Given the description of an element on the screen output the (x, y) to click on. 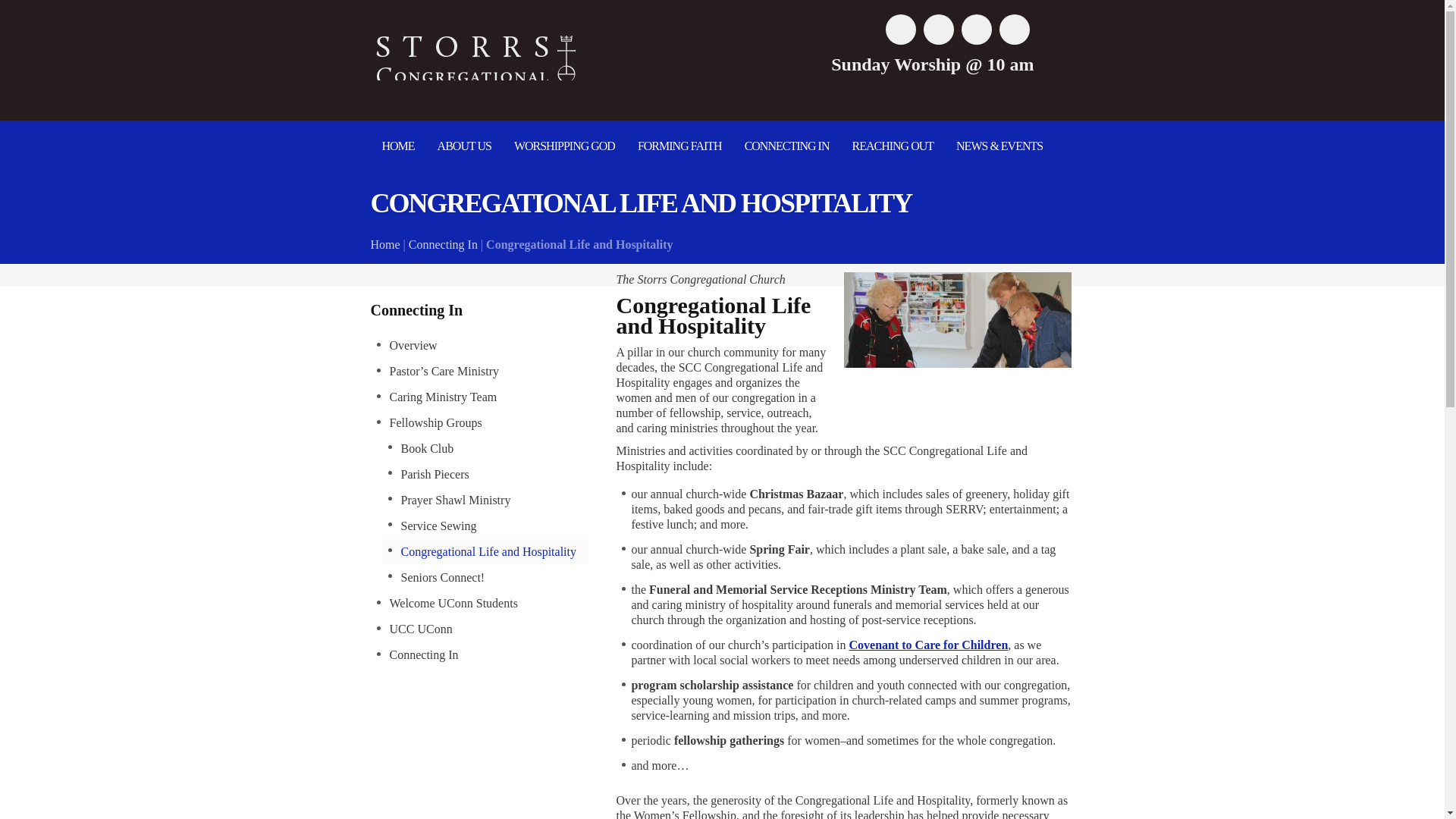
FORMING FAITH (679, 146)
ABOUT US (464, 146)
Seniors Connect (478, 422)
WORSHIPPING GOD (564, 146)
twitter (938, 29)
Seniors Connect (478, 654)
HOME (397, 146)
CONNECTING IN (787, 146)
